Given the description of an element on the screen output the (x, y) to click on. 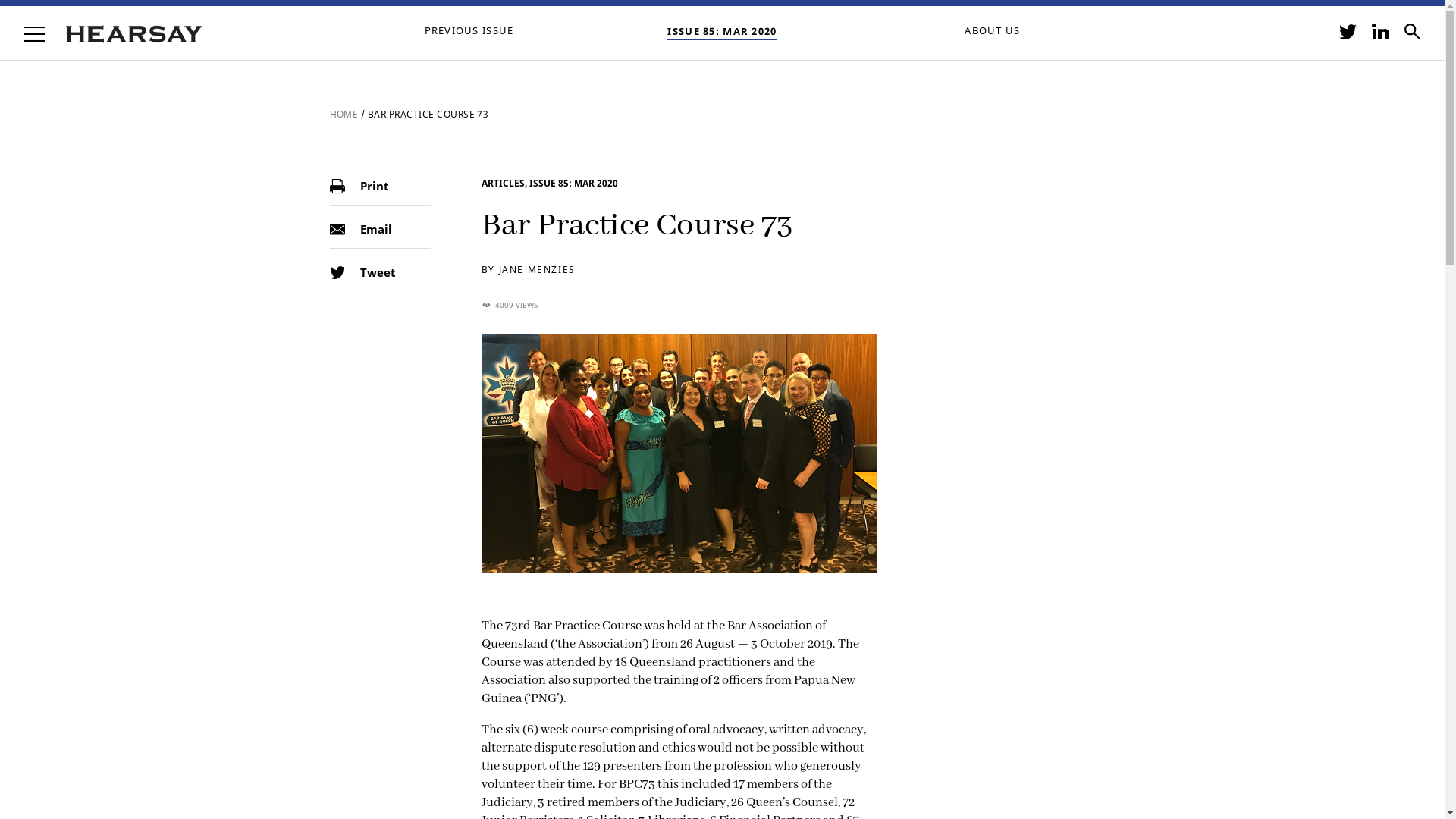
Email Element type: text (380, 226)
ABOUT US Element type: text (991, 30)
ISSUE 85: MAR 2020 Element type: text (721, 30)
Tweet Element type: text (380, 269)
Print Element type: text (380, 183)
PREVIOUS ISSUE Element type: text (469, 30)
HOME Element type: text (343, 113)
